Given the description of an element on the screen output the (x, y) to click on. 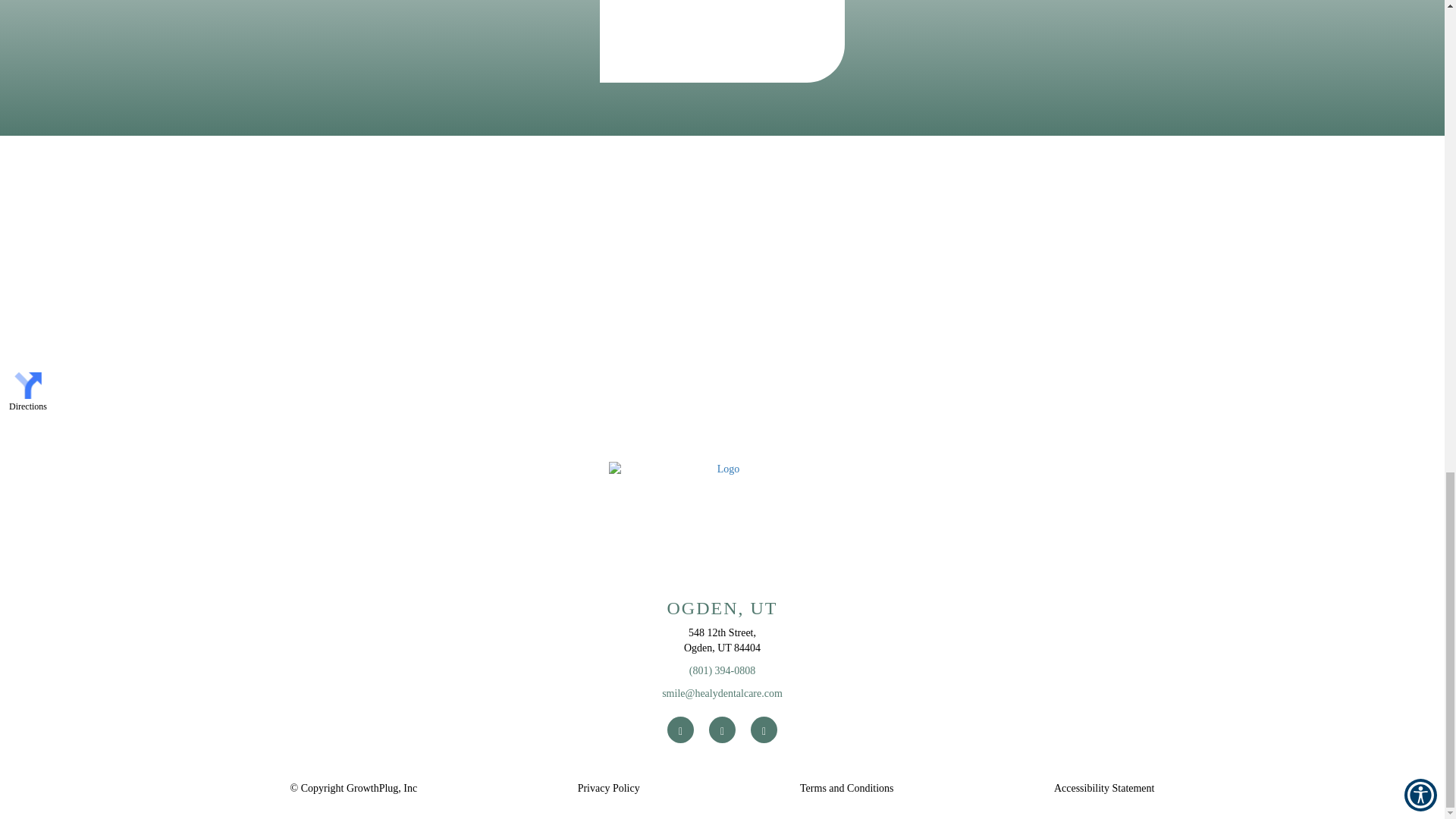
Logo (721, 518)
Directions (27, 391)
